Given the description of an element on the screen output the (x, y) to click on. 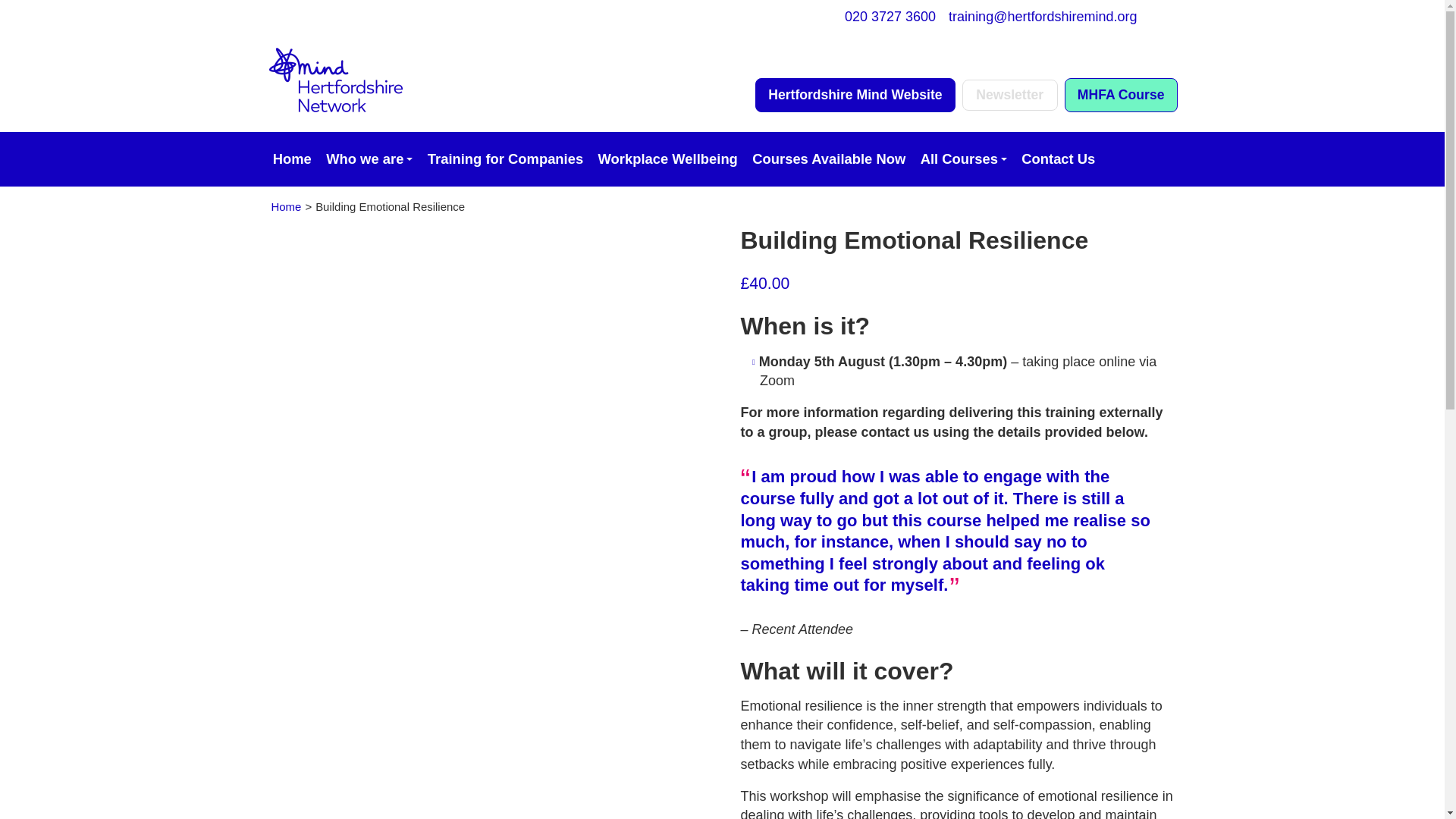
Contact Us (1058, 159)
Home (290, 159)
Training for Companies (505, 159)
LinkedIn (420, 16)
Instagram (351, 16)
Workplace Wellbeing (667, 159)
X (318, 16)
All Courses (962, 159)
Facebook (283, 16)
Newsletter (1010, 94)
020 3727 3600 (888, 16)
Courses Available Now (828, 159)
Who we are (369, 159)
YouTube (386, 16)
Hertfordshire Mind Website (855, 94)
